Given the description of an element on the screen output the (x, y) to click on. 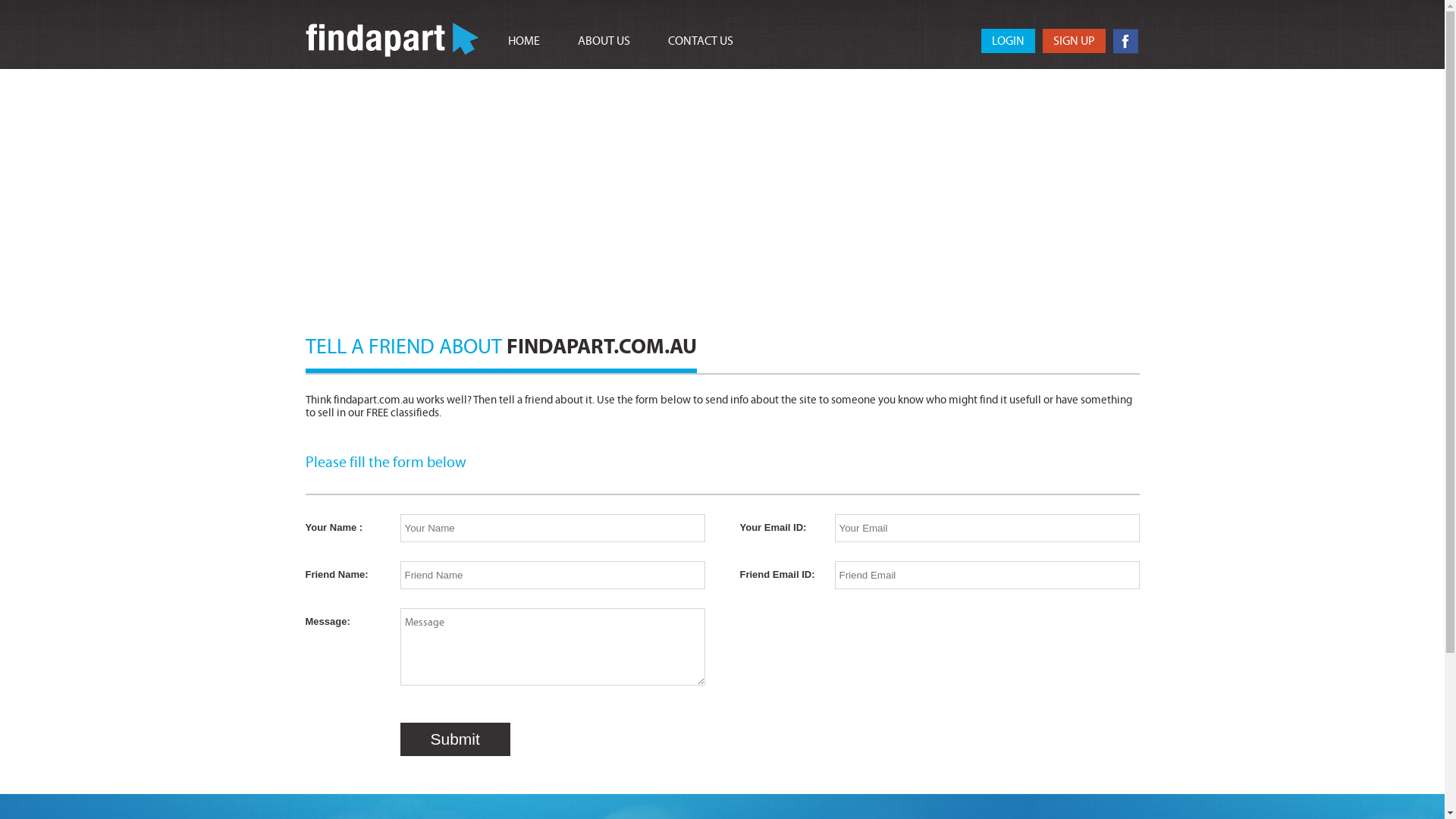
LOGIN Element type: text (1008, 40)
CONTACT US Element type: text (699, 40)
SIGN UP Element type: text (1072, 40)
Advertisement Element type: hover (721, 182)
HOME Element type: text (523, 40)
ABOUT US Element type: text (603, 40)
Submit Element type: text (455, 739)
